Given the description of an element on the screen output the (x, y) to click on. 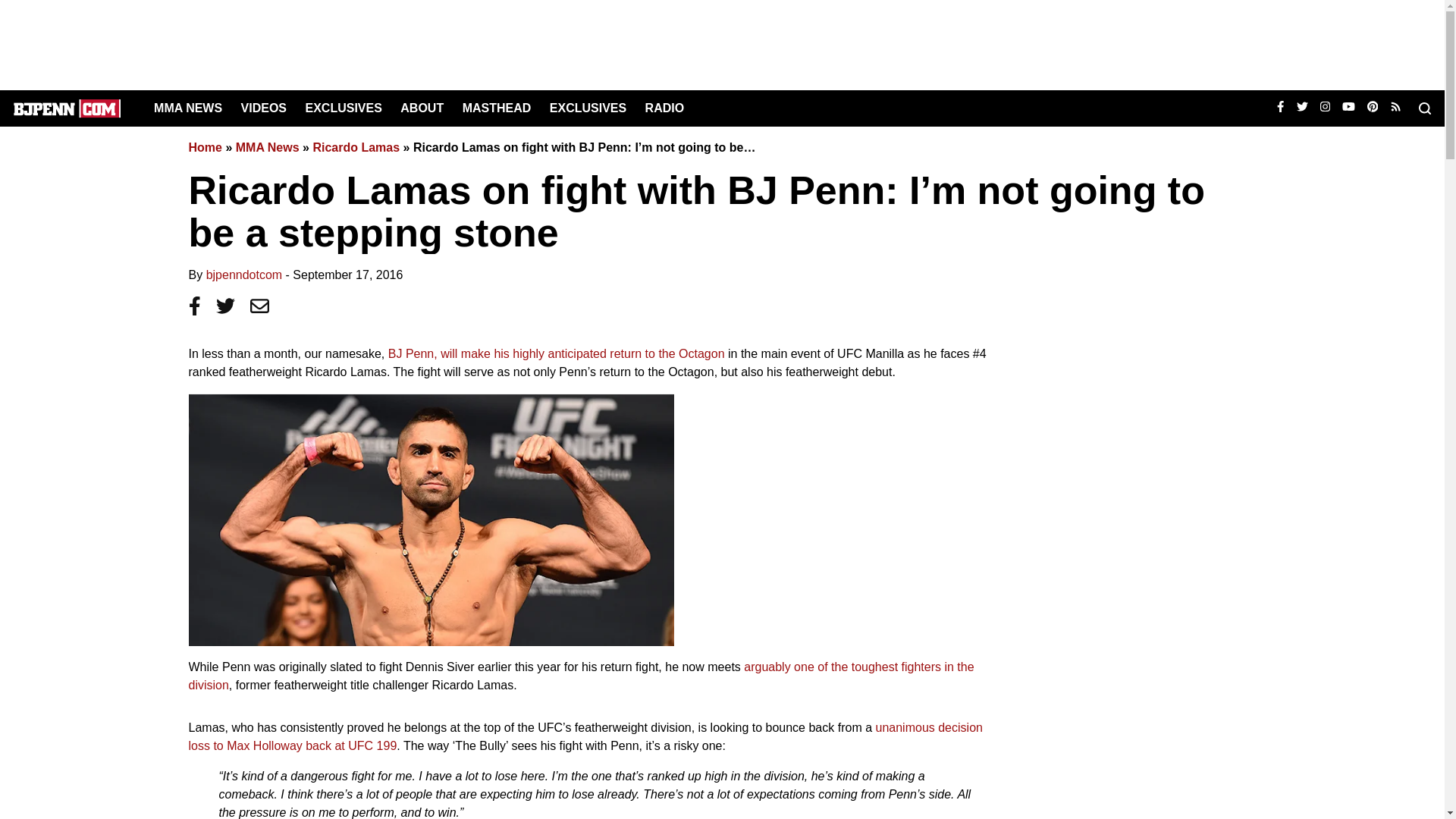
MASTHEAD (497, 107)
EXCLUSIVES (588, 107)
ABOUT (422, 107)
EXCLUSIVES (342, 107)
VIDEOS (263, 107)
MMA NEWS (188, 107)
RADIO (664, 107)
